Given the description of an element on the screen output the (x, y) to click on. 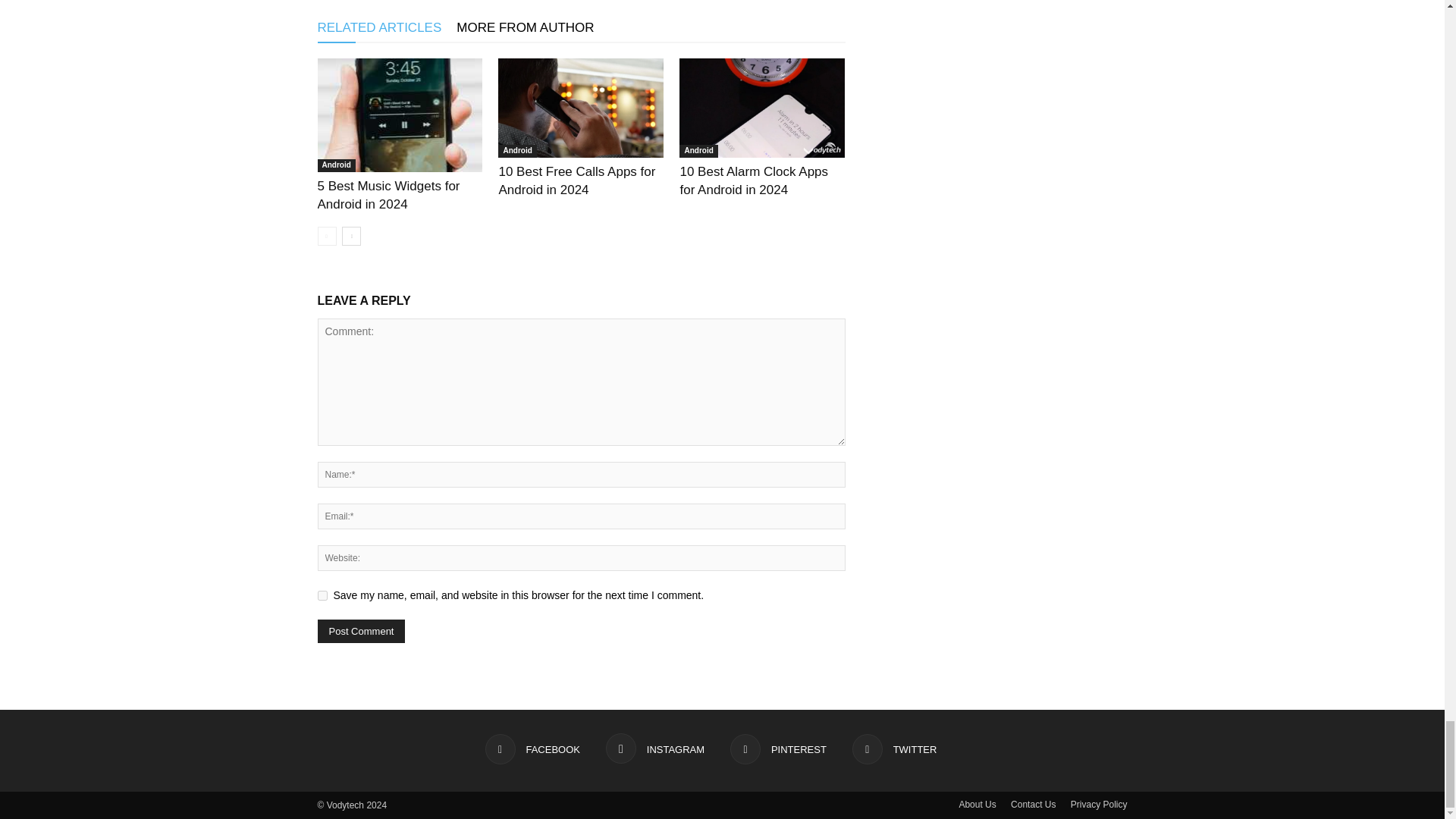
yes (321, 595)
Post Comment (360, 630)
